Given the description of an element on the screen output the (x, y) to click on. 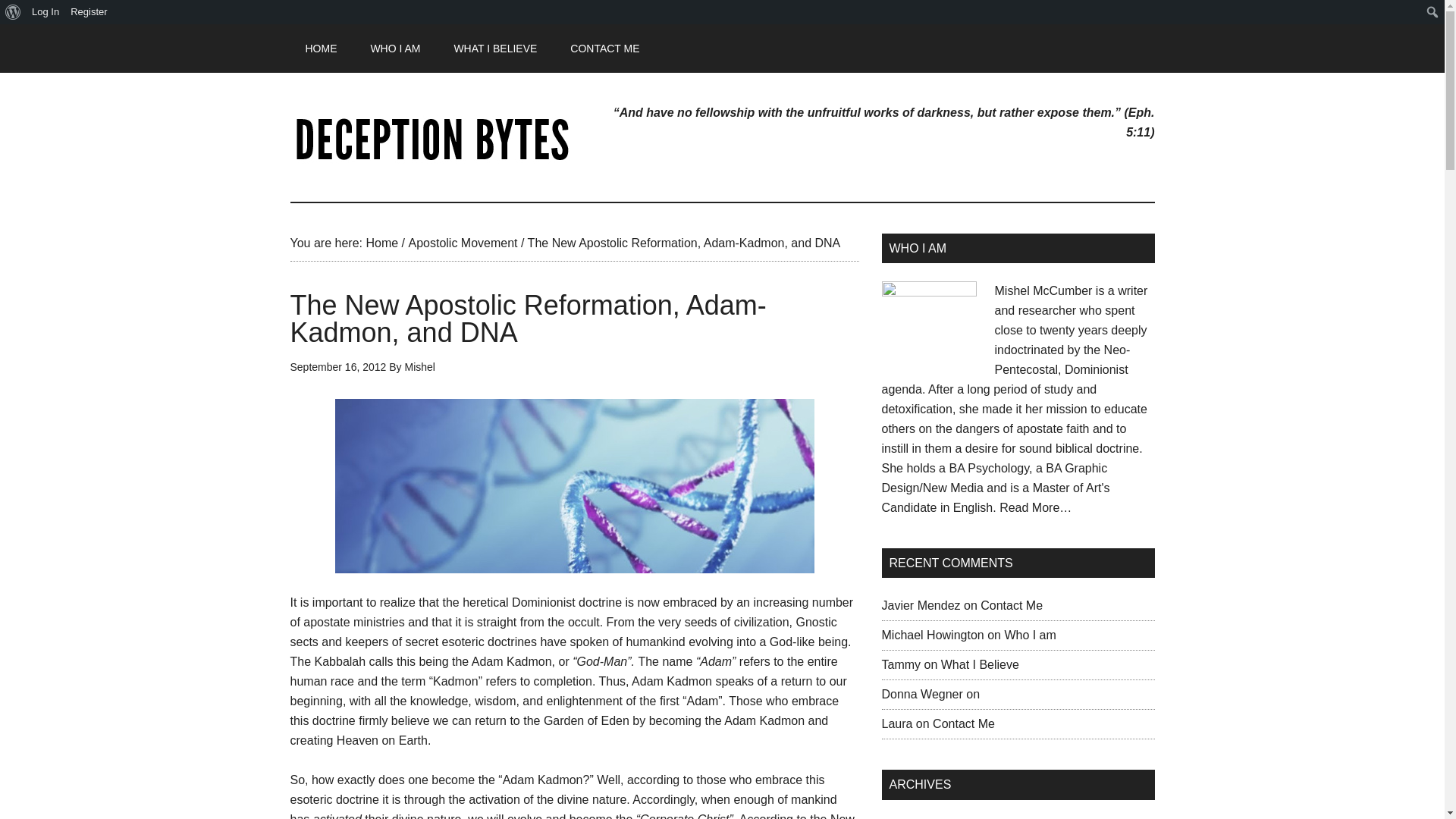
Deception Bytes (433, 137)
Mishel (419, 367)
Apostolic Movement (461, 242)
What I Believe (979, 664)
Home (381, 242)
Register (89, 12)
Search (15, 12)
CONTACT ME (603, 48)
Who I am (1029, 634)
HOME (320, 48)
Contact Me (1010, 604)
Contact Me (963, 723)
Log In (45, 12)
WHAT I BELIEVE (494, 48)
WHO I AM (395, 48)
